Given the description of an element on the screen output the (x, y) to click on. 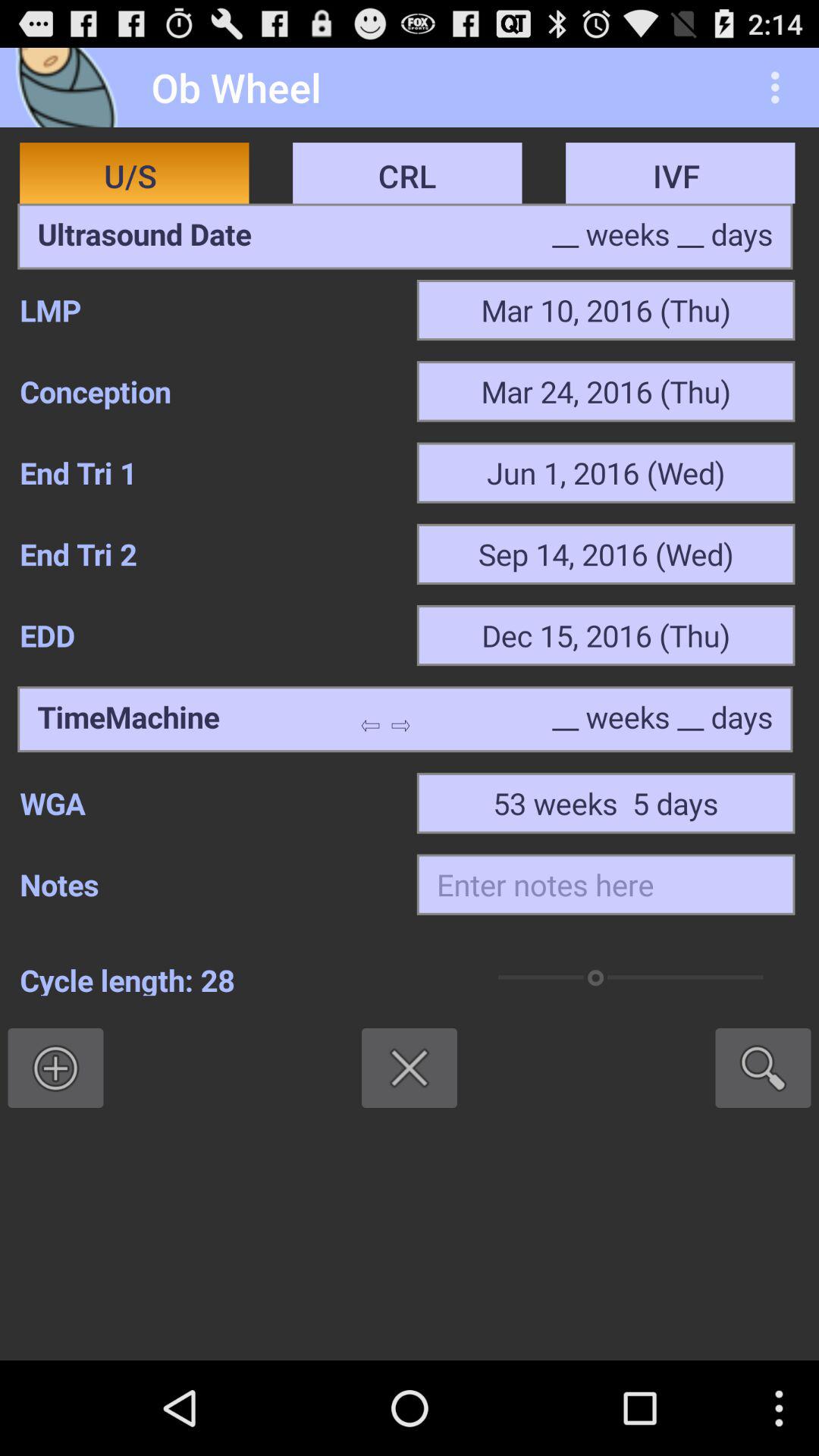
type the days (662, 719)
